Given the description of an element on the screen output the (x, y) to click on. 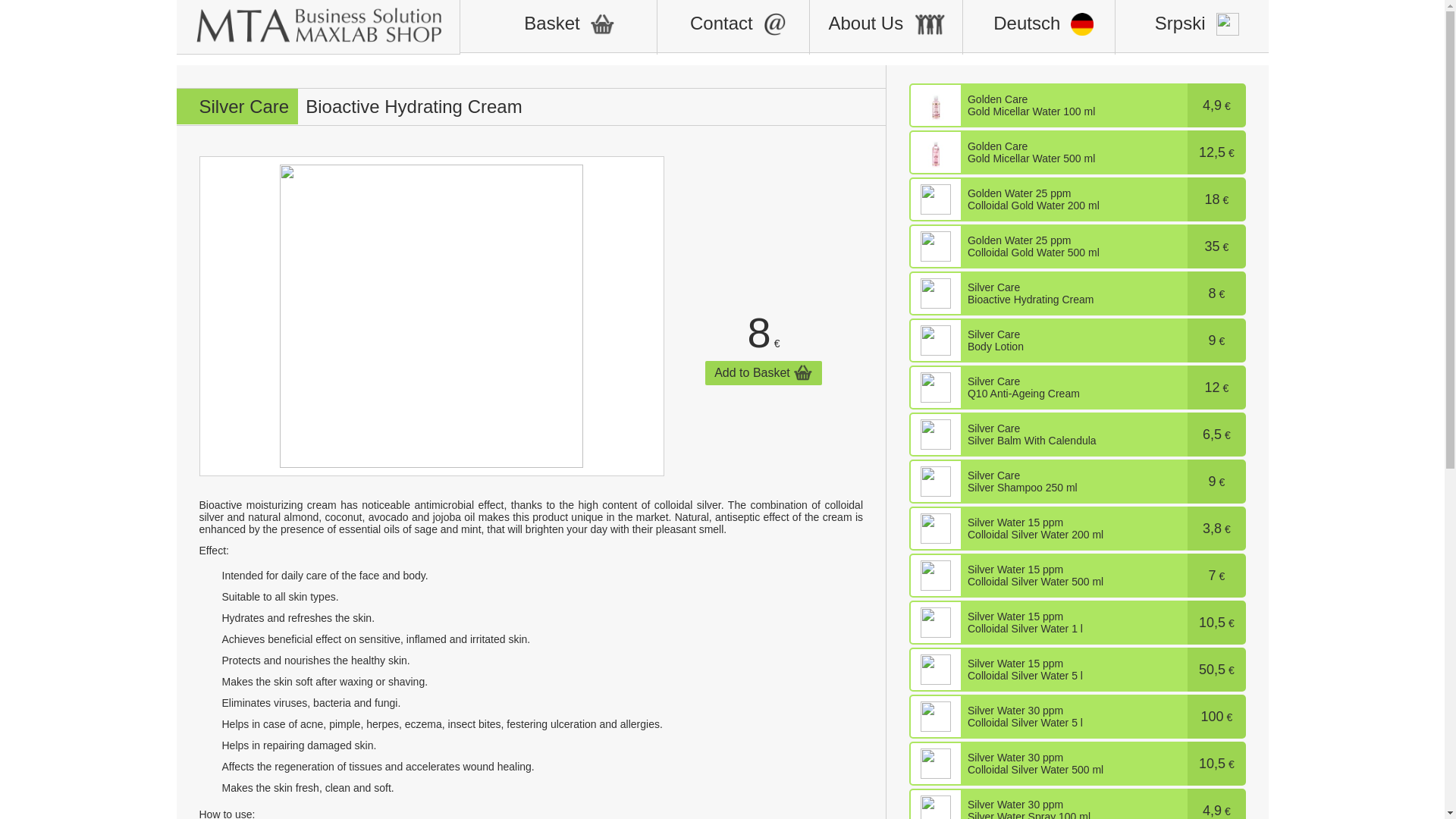
Srpski (1191, 26)
Contact (733, 26)
About Us (885, 26)
Basket (558, 26)
Deutsch (1038, 26)
Add to Basket (763, 372)
Add to Basket (763, 372)
